Given the description of an element on the screen output the (x, y) to click on. 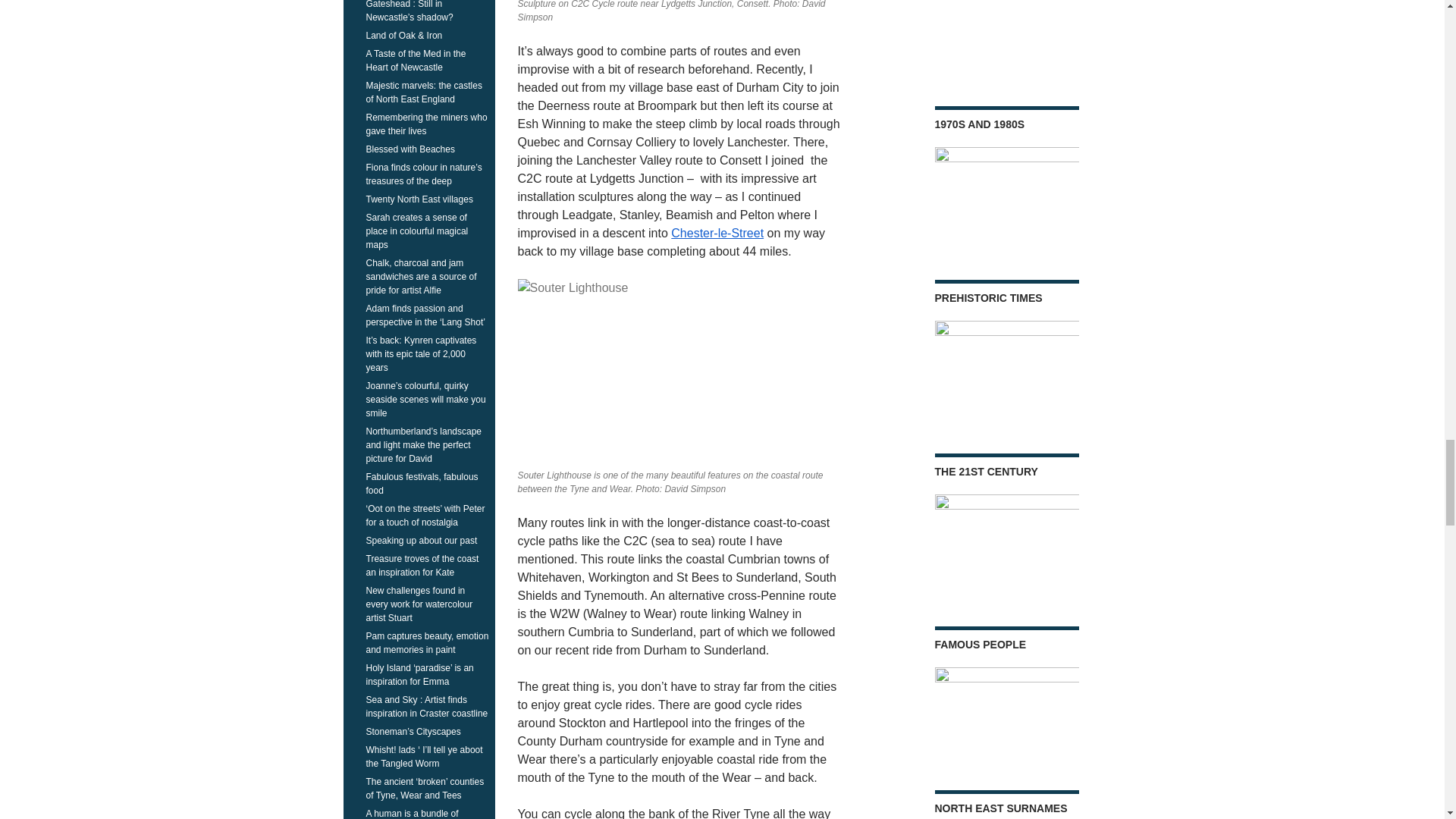
Prehistoric Times (1006, 368)
